Given the description of an element on the screen output the (x, y) to click on. 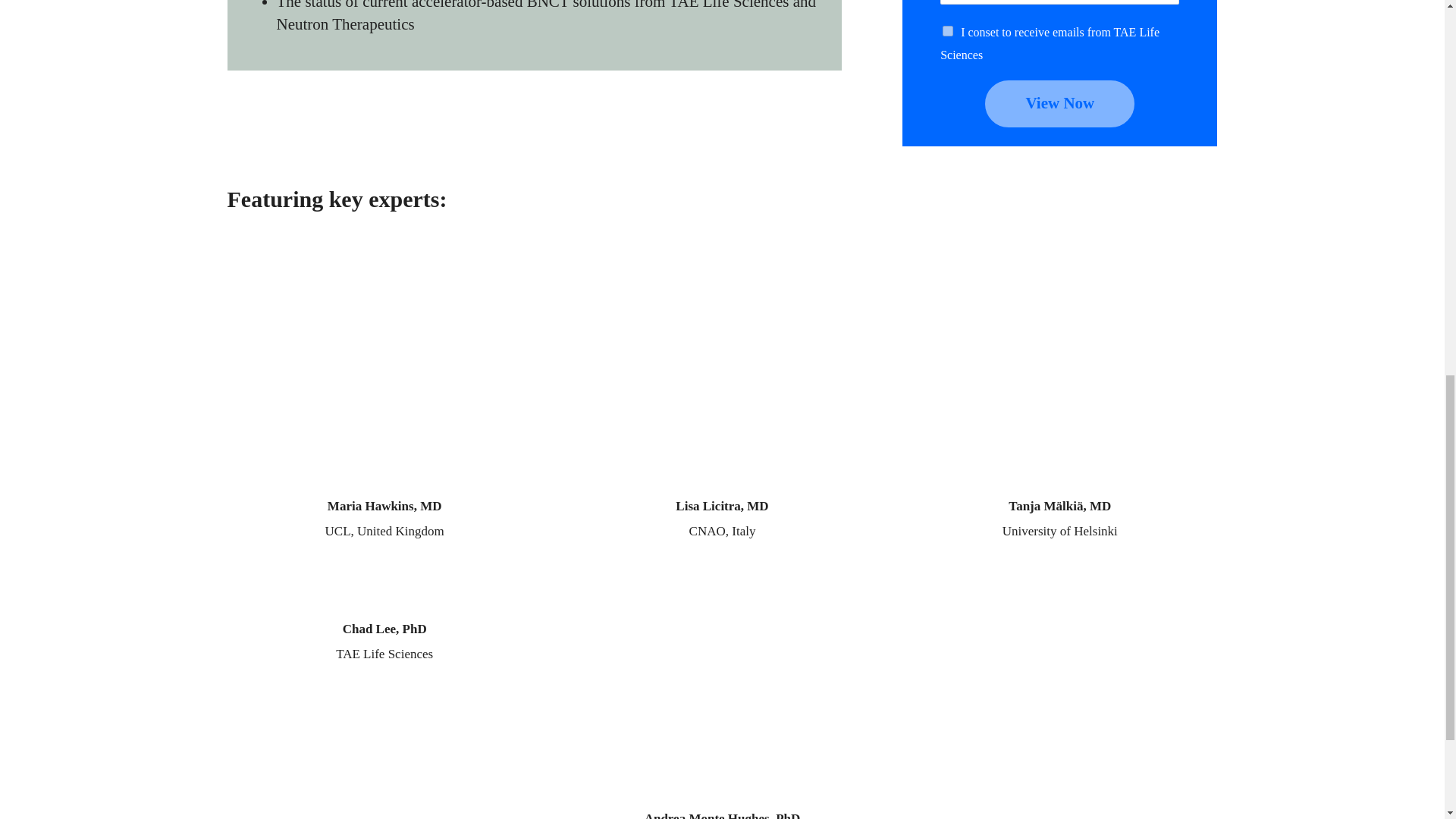
View Now (1059, 103)
I conset to receive emails from TAE Life Sciences (947, 30)
